Given the description of an element on the screen output the (x, y) to click on. 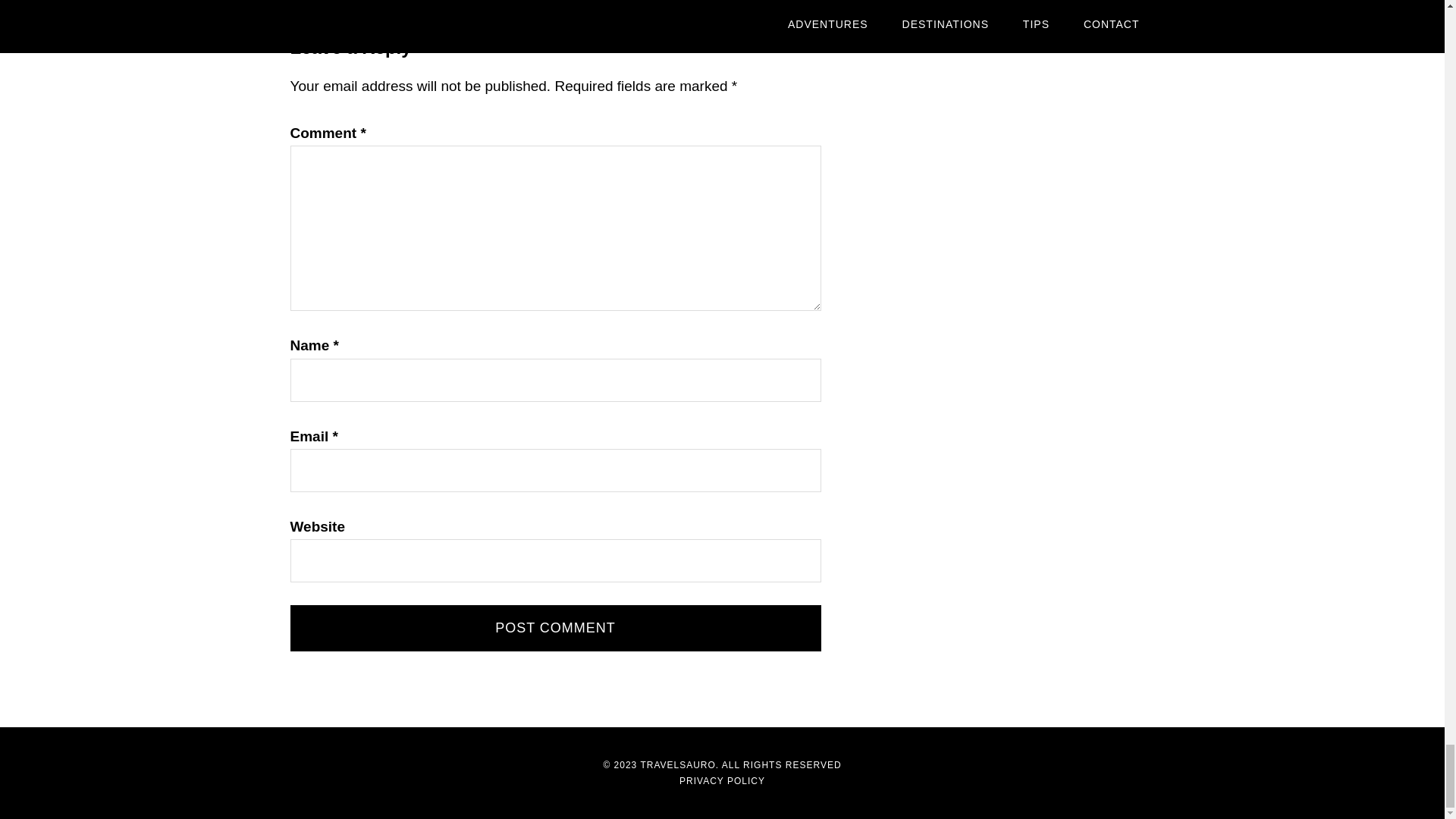
Post Comment (555, 628)
